Given the description of an element on the screen output the (x, y) to click on. 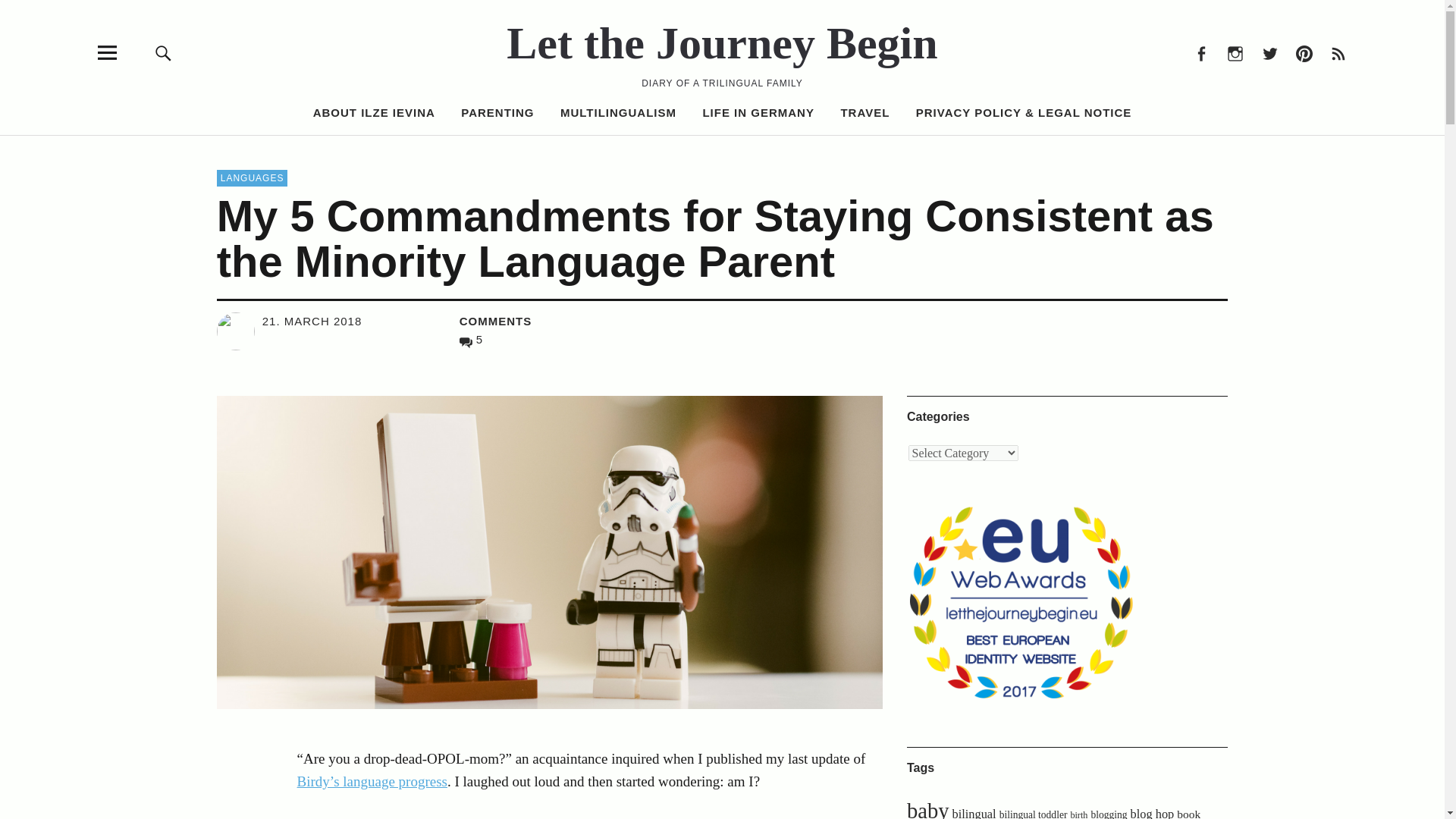
ABOUT ILZE IEVINA (374, 112)
TRAVEL (864, 112)
PARENTING (497, 112)
LIFE IN GERMANY (757, 112)
Search (965, 150)
Let the Journey Begin (721, 42)
MULTILINGUALISM (618, 112)
